Given the description of an element on the screen output the (x, y) to click on. 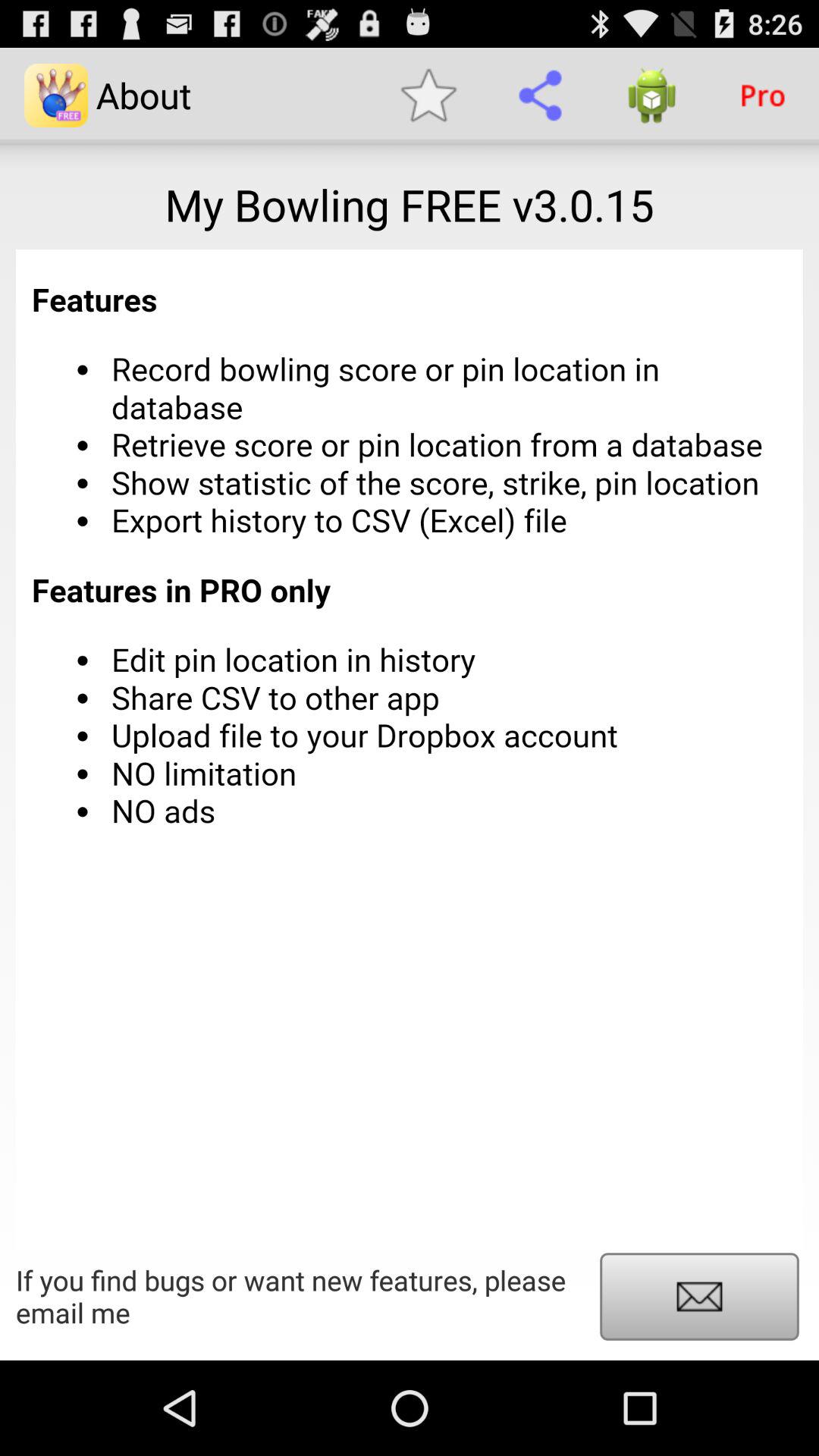
send email (699, 1296)
